Given the description of an element on the screen output the (x, y) to click on. 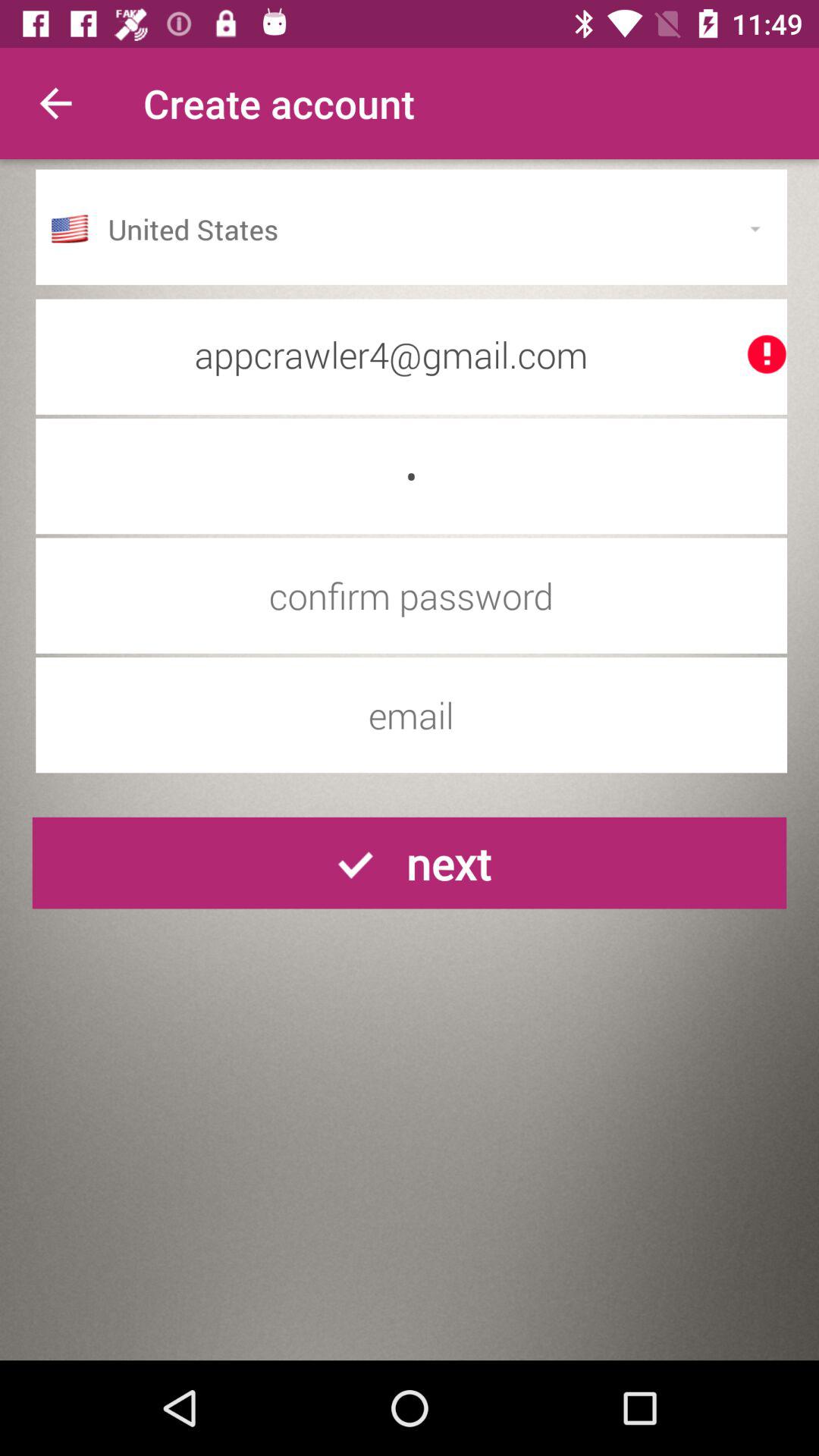
turn on the c icon (411, 476)
